Given the description of an element on the screen output the (x, y) to click on. 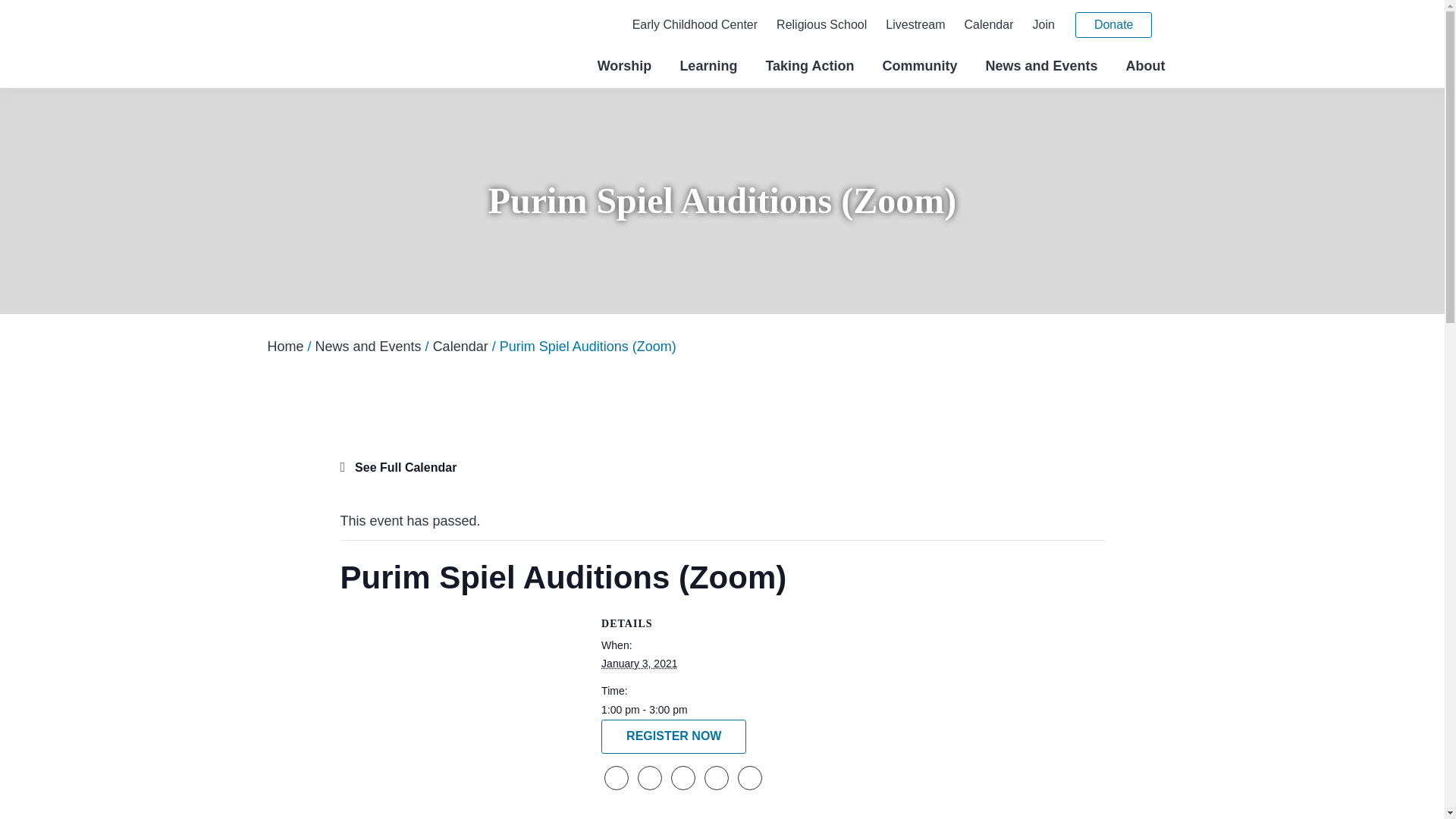
Donate (1114, 24)
Early Childhood Center (694, 24)
2021-01-03 (843, 709)
2021-01-03 (639, 663)
Religious School (821, 24)
Livestream (914, 24)
Calendar (989, 24)
Join (1043, 24)
Worship (624, 68)
